Given the description of an element on the screen output the (x, y) to click on. 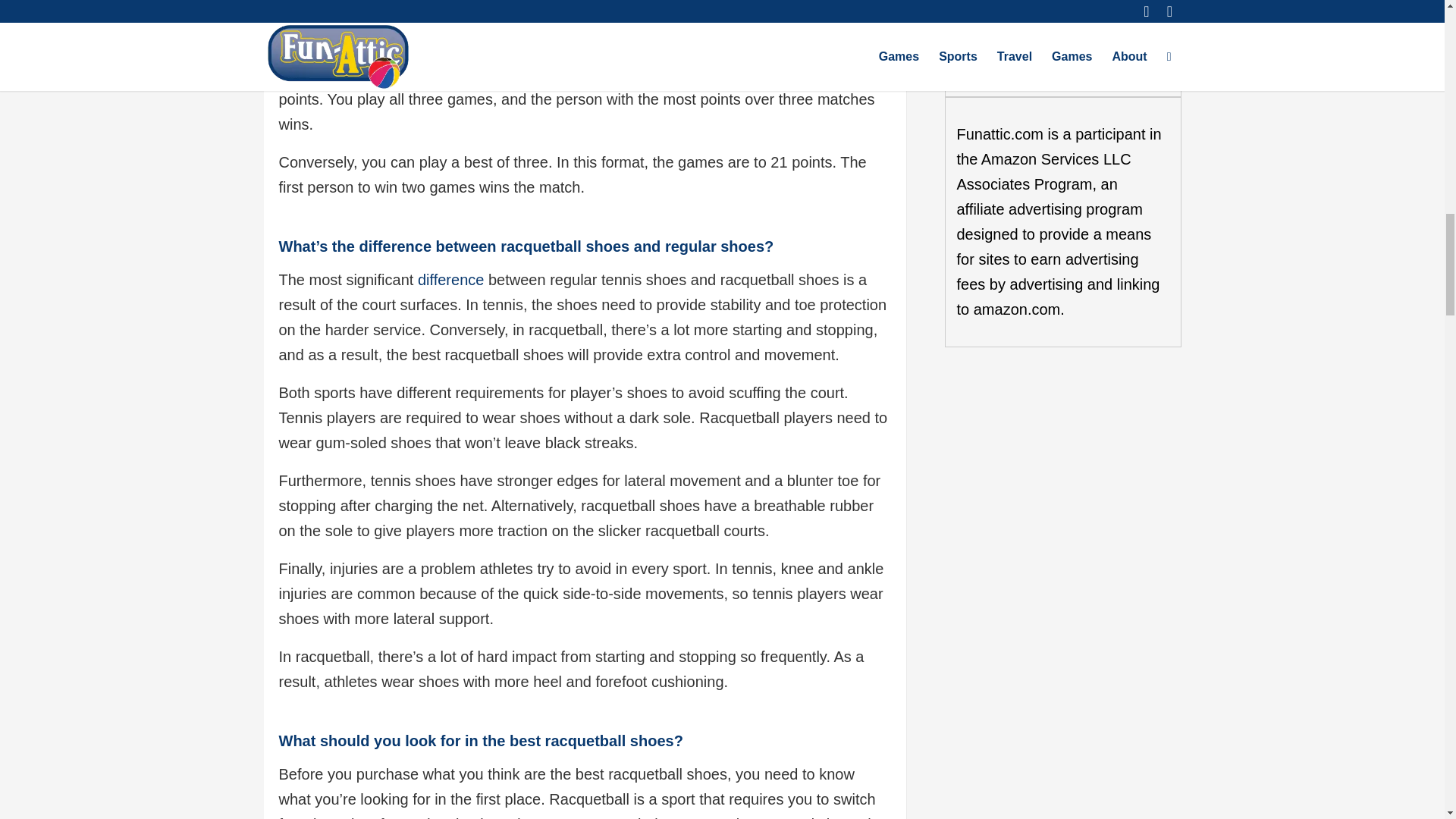
games (629, 74)
difference (450, 279)
